Given the description of an element on the screen output the (x, y) to click on. 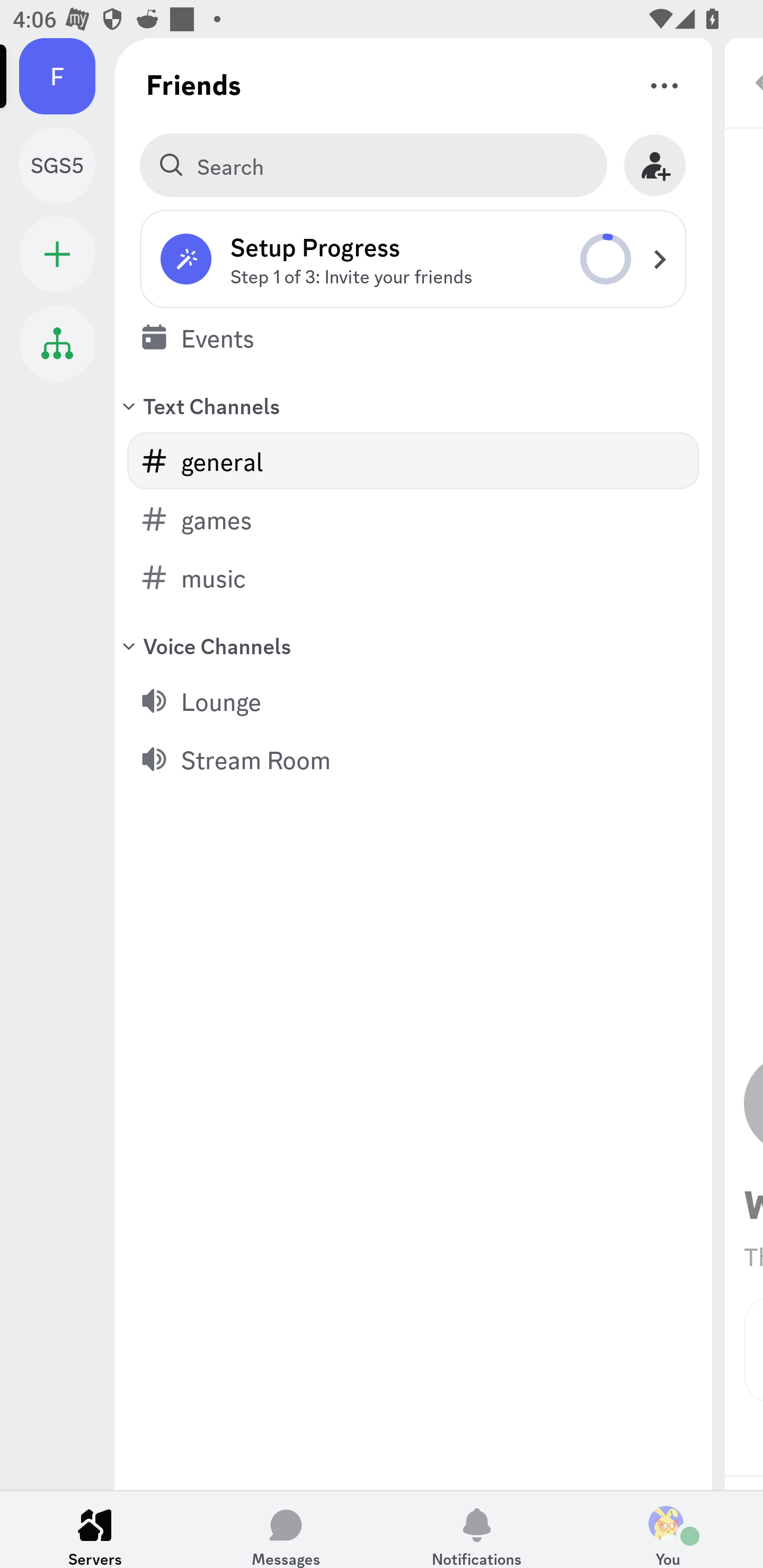
  Friends F (66, 75)
Friends (193, 83)
  Study Group Sunday 5PM SGS5 (66, 165)
Search (373, 165)
Invite (654, 165)
Add a Server (57, 253)
Student Hub (57, 343)
Events (413, 336)
Text Channels (412, 404)
general (text channel) general (413, 460)
games (text channel) games (413, 518)
music (text channel) music (413, 576)
Voice Channels (412, 644)
Lounge (voice channel), 0 users Lounge (413, 700)
Stream Room (voice channel), 0 users Stream Room (413, 758)
Servers (95, 1529)
Messages (285, 1529)
Notifications (476, 1529)
